Given the description of an element on the screen output the (x, y) to click on. 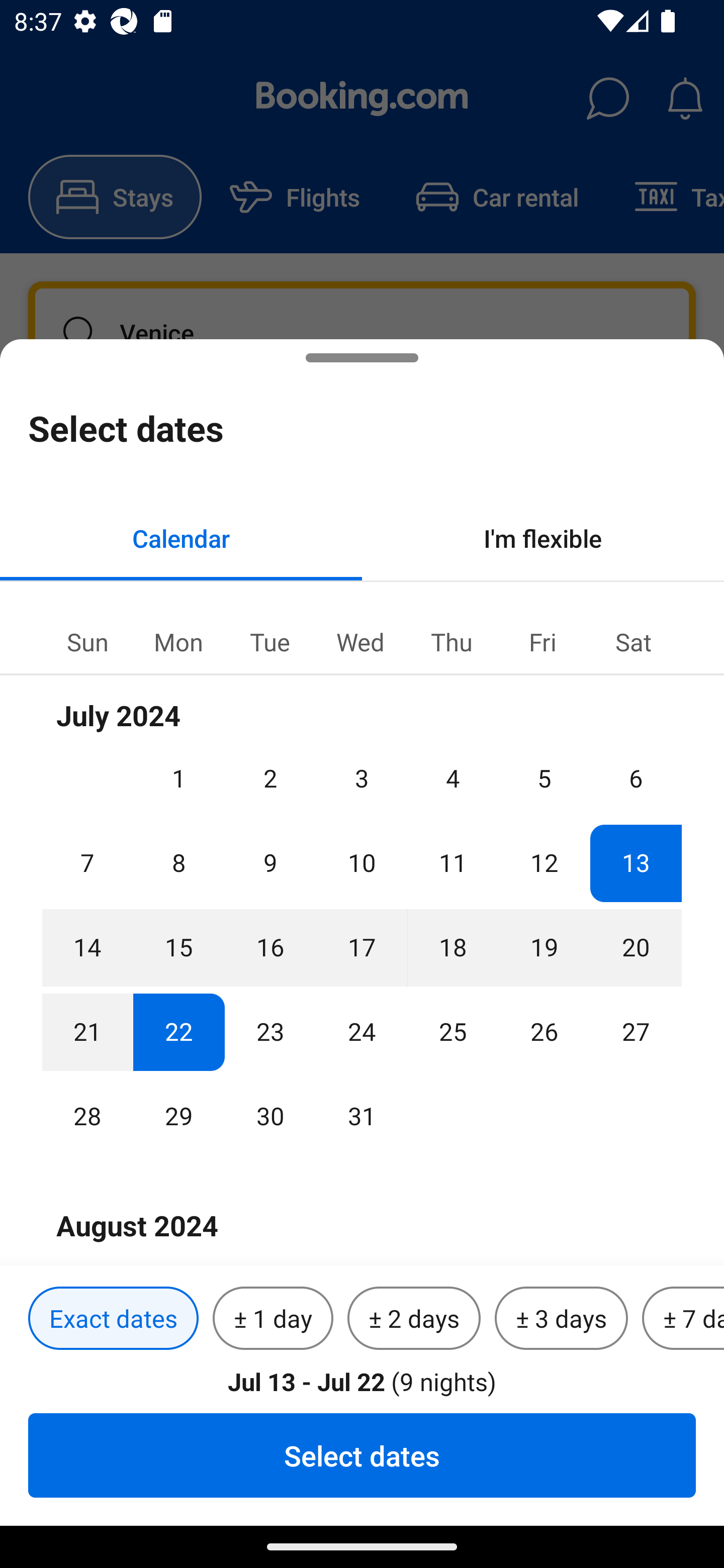
I'm flexible (543, 537)
Exact dates (113, 1318)
± 1 day (272, 1318)
± 2 days (413, 1318)
± 3 days (560, 1318)
± 7 days (683, 1318)
Select dates (361, 1454)
